Given the description of an element on the screen output the (x, y) to click on. 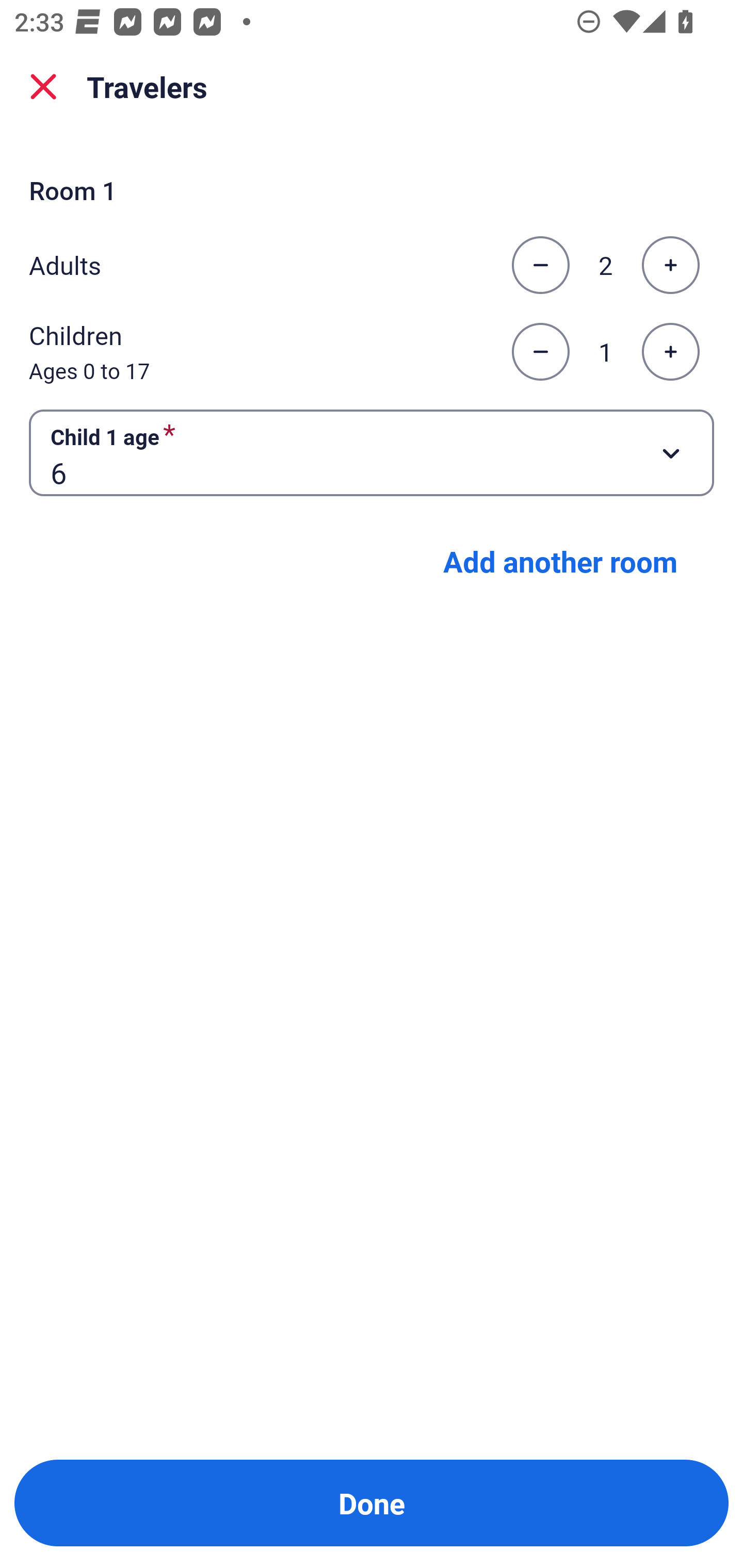
close (43, 86)
Decrease the number of adults (540, 264)
Increase the number of adults (670, 264)
Decrease the number of children (540, 351)
Increase the number of children (670, 351)
Child 1 age required Button 6 (371, 452)
Add another room (560, 561)
Done (371, 1502)
